Given the description of an element on the screen output the (x, y) to click on. 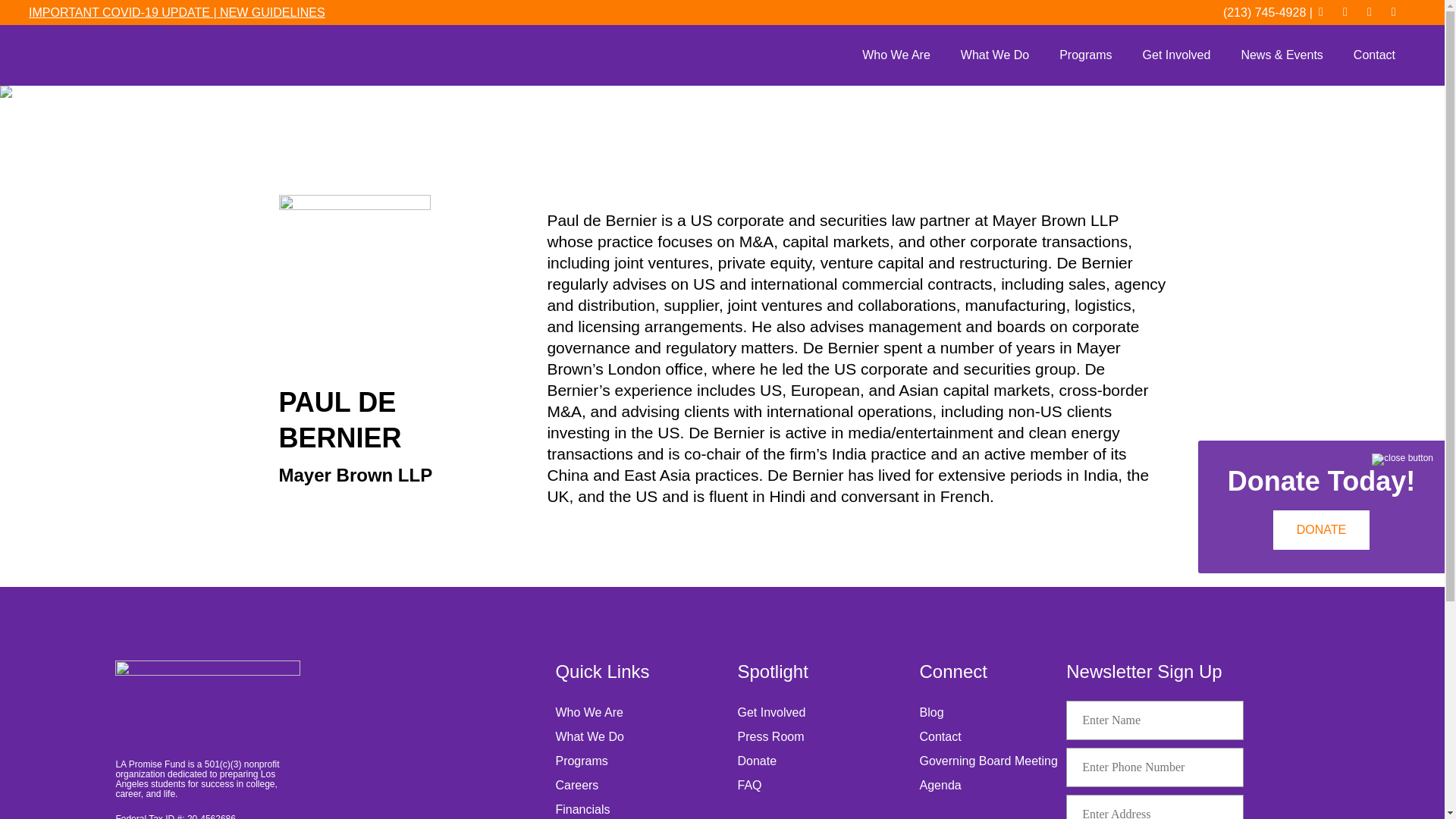
Get Involved (1175, 55)
Contact (1374, 55)
IMPORTANT COVID-19 UPDATE (120, 11)
Programs (1084, 55)
NEW GUIDELINES (270, 11)
What We Do (993, 55)
Who We Are (895, 55)
Paul-de-Bernier (354, 270)
